Given the description of an element on the screen output the (x, y) to click on. 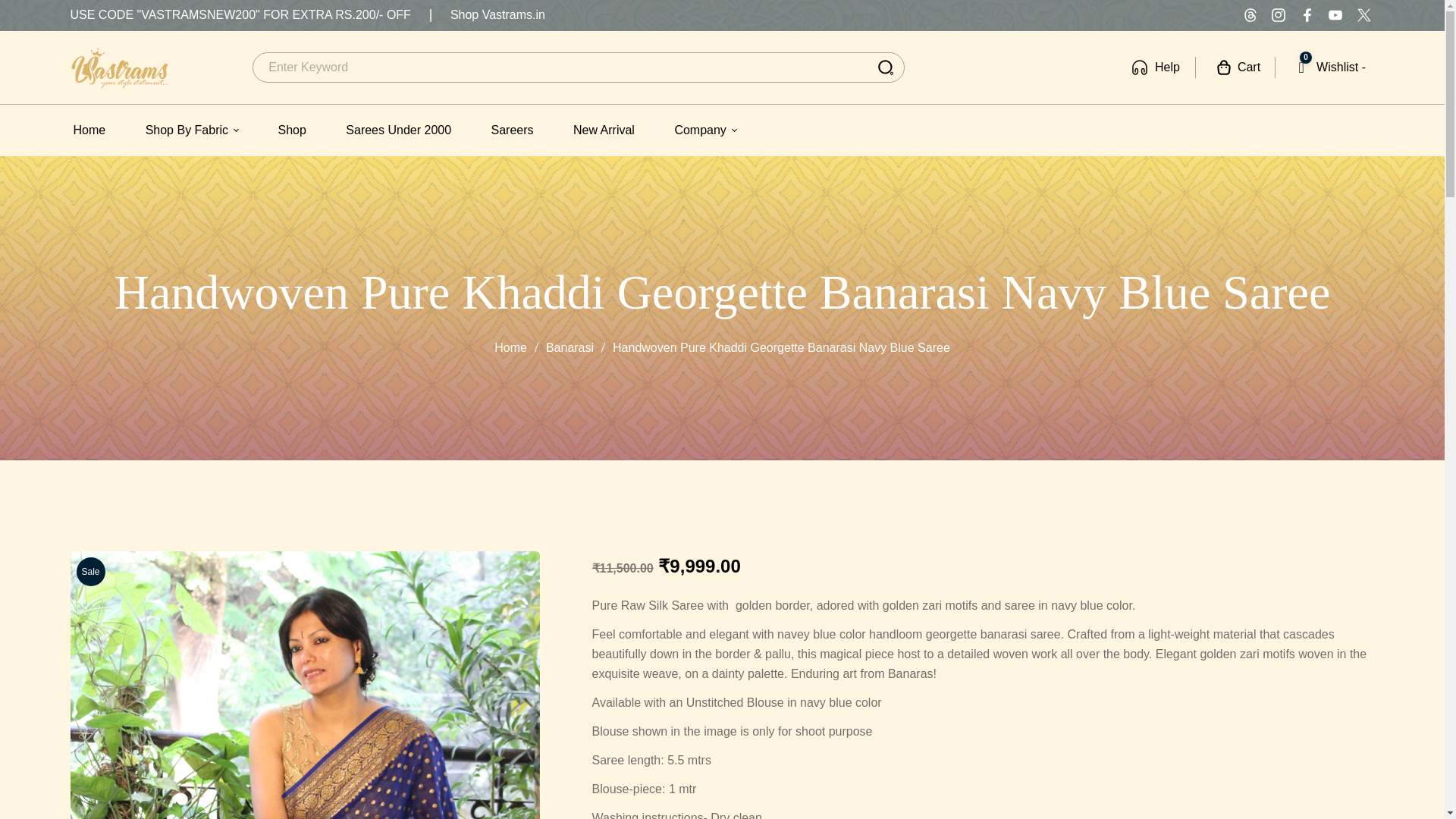
Go (885, 67)
Go (885, 67)
Cart (1327, 66)
Home (1235, 67)
Help (89, 130)
